Given the description of an element on the screen output the (x, y) to click on. 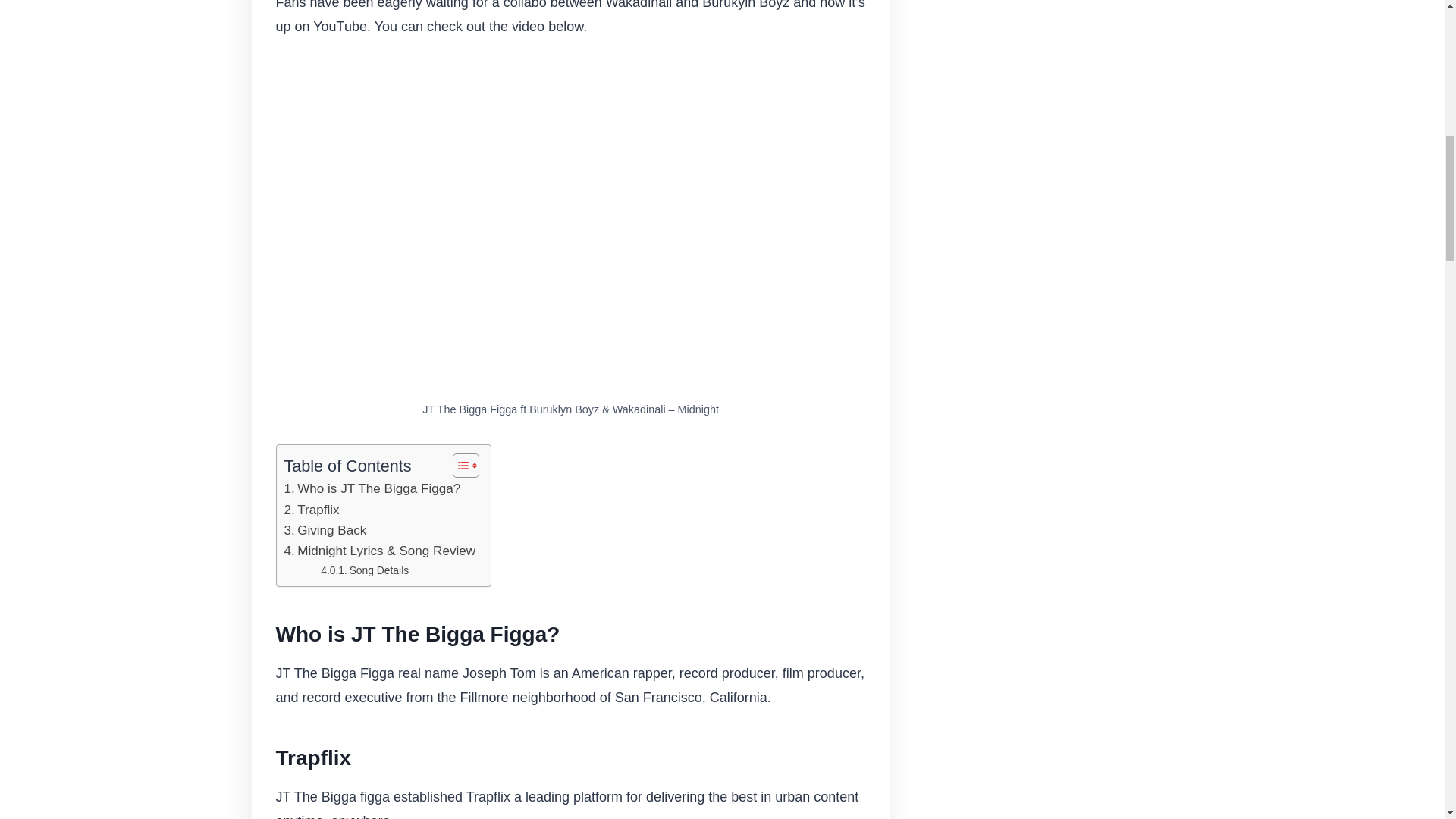
Giving Back (324, 530)
Who is JT The Bigga Figga? (371, 488)
Trapflix (311, 509)
Who is JT The Bigga Figga? (371, 488)
Trapflix (311, 509)
Song Details (364, 569)
Giving Back (324, 530)
Song Details (364, 569)
